Given the description of an element on the screen output the (x, y) to click on. 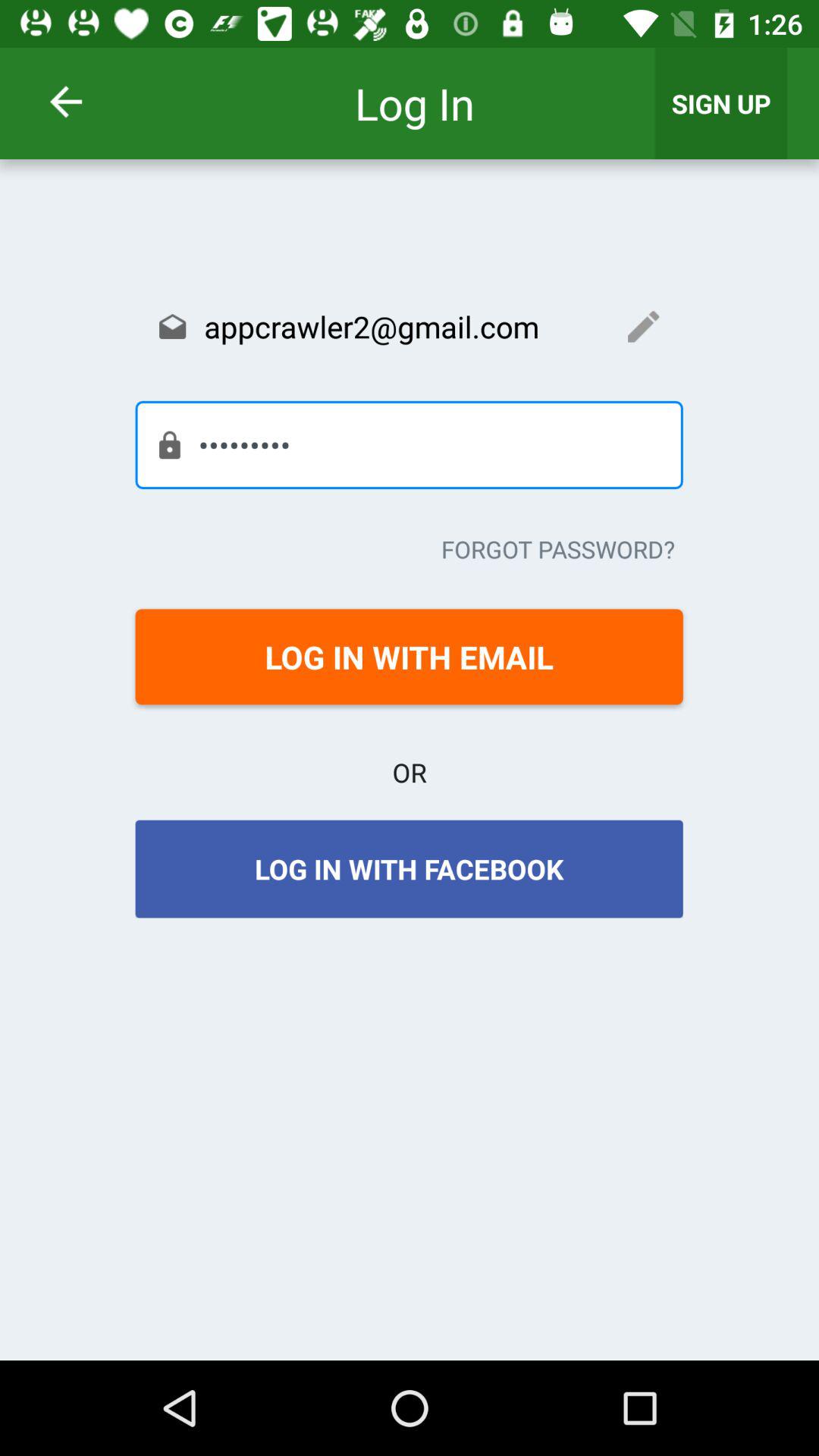
go to the first screen (85, 101)
